Given the description of an element on the screen output the (x, y) to click on. 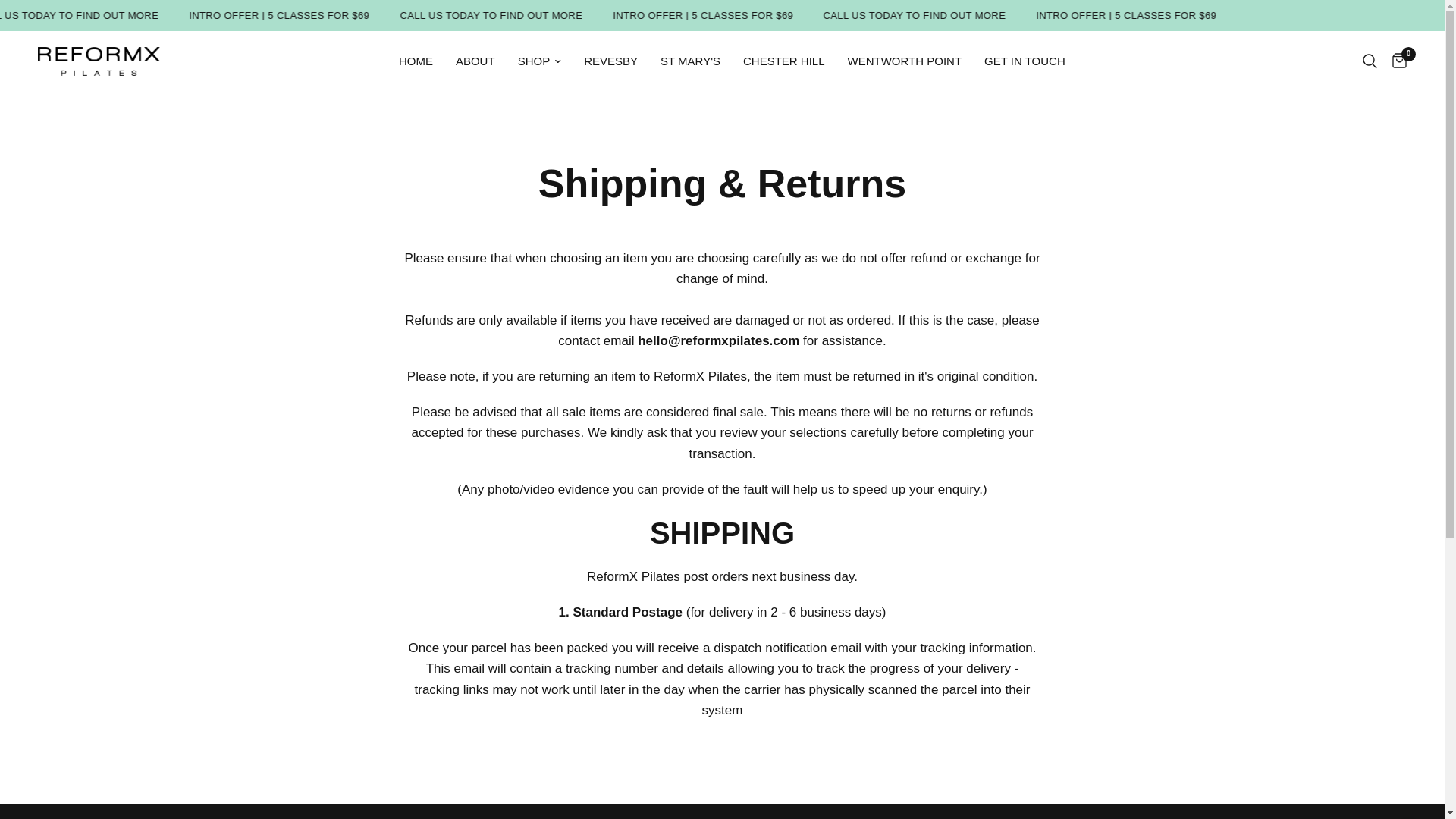
REVESBY (610, 61)
HOME (415, 61)
ST MARY'S (690, 61)
CHESTER HILL (783, 61)
WENTWORTH POINT (904, 61)
Search (1369, 61)
ABOUT (475, 61)
SHOP (540, 61)
GET IN TOUCH (1024, 61)
0 (1395, 61)
